Given the description of an element on the screen output the (x, y) to click on. 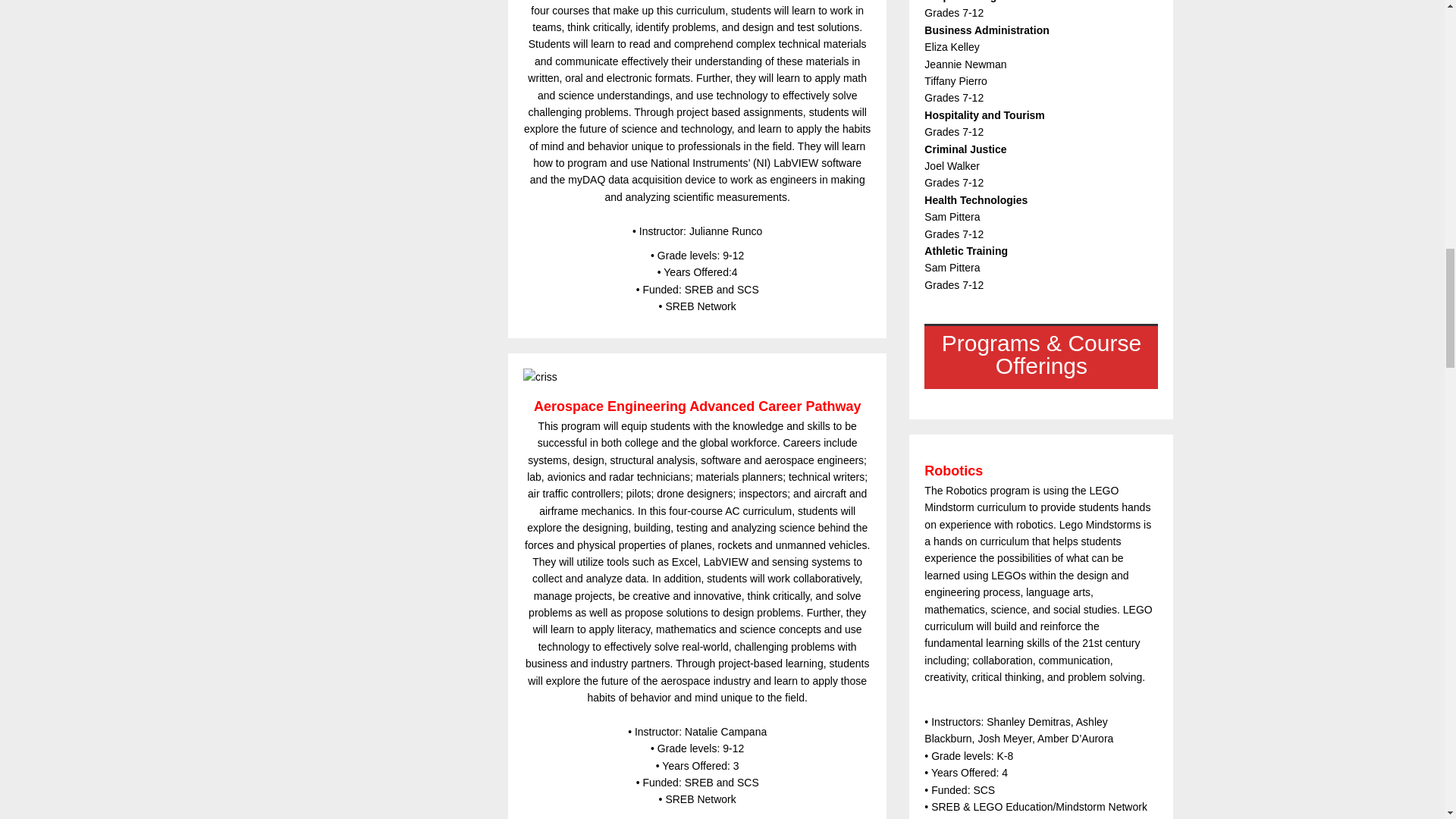
criss (696, 376)
